Given the description of an element on the screen output the (x, y) to click on. 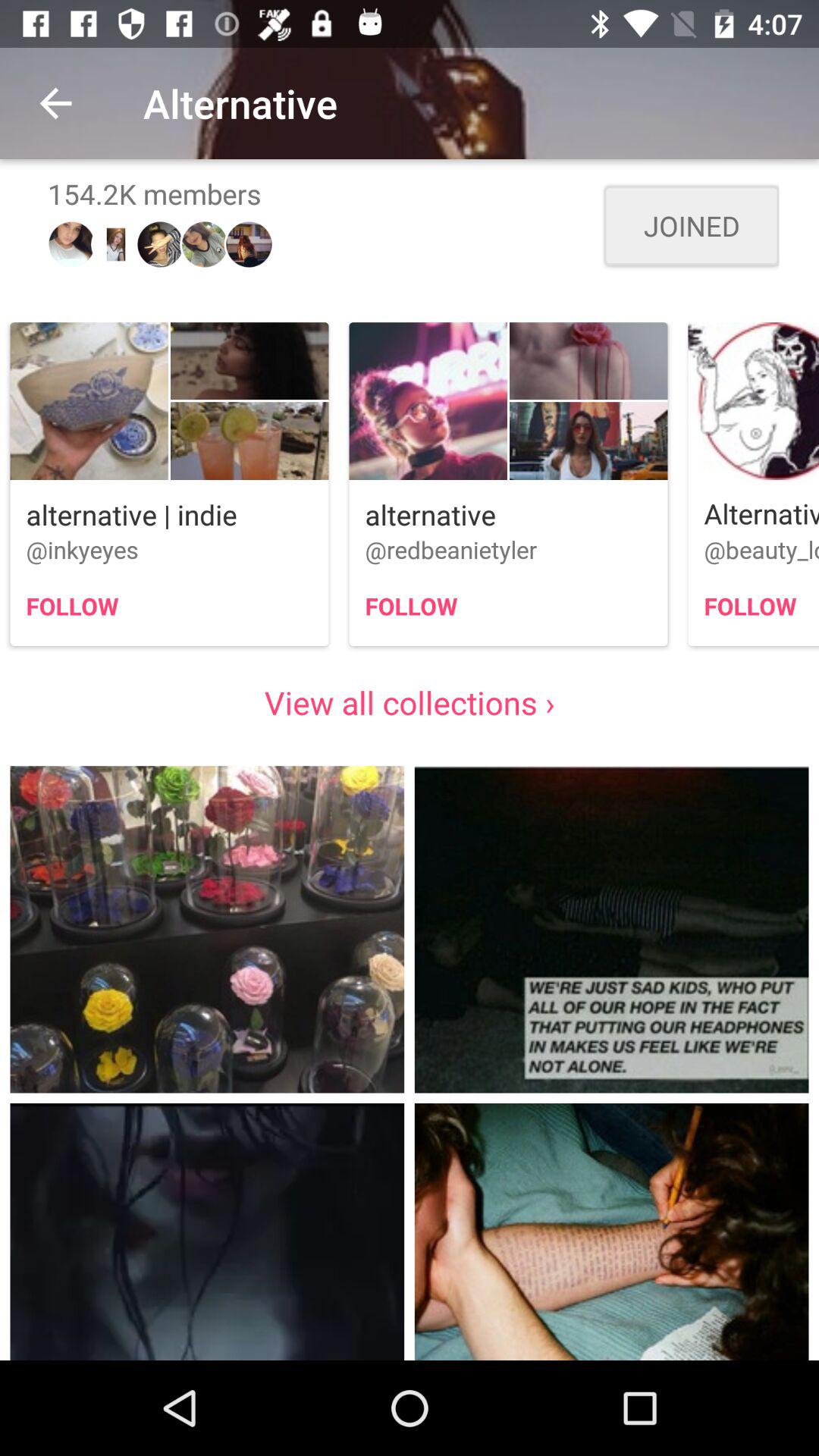
turn off icon to the left of alternative item (55, 103)
